Given the description of an element on the screen output the (x, y) to click on. 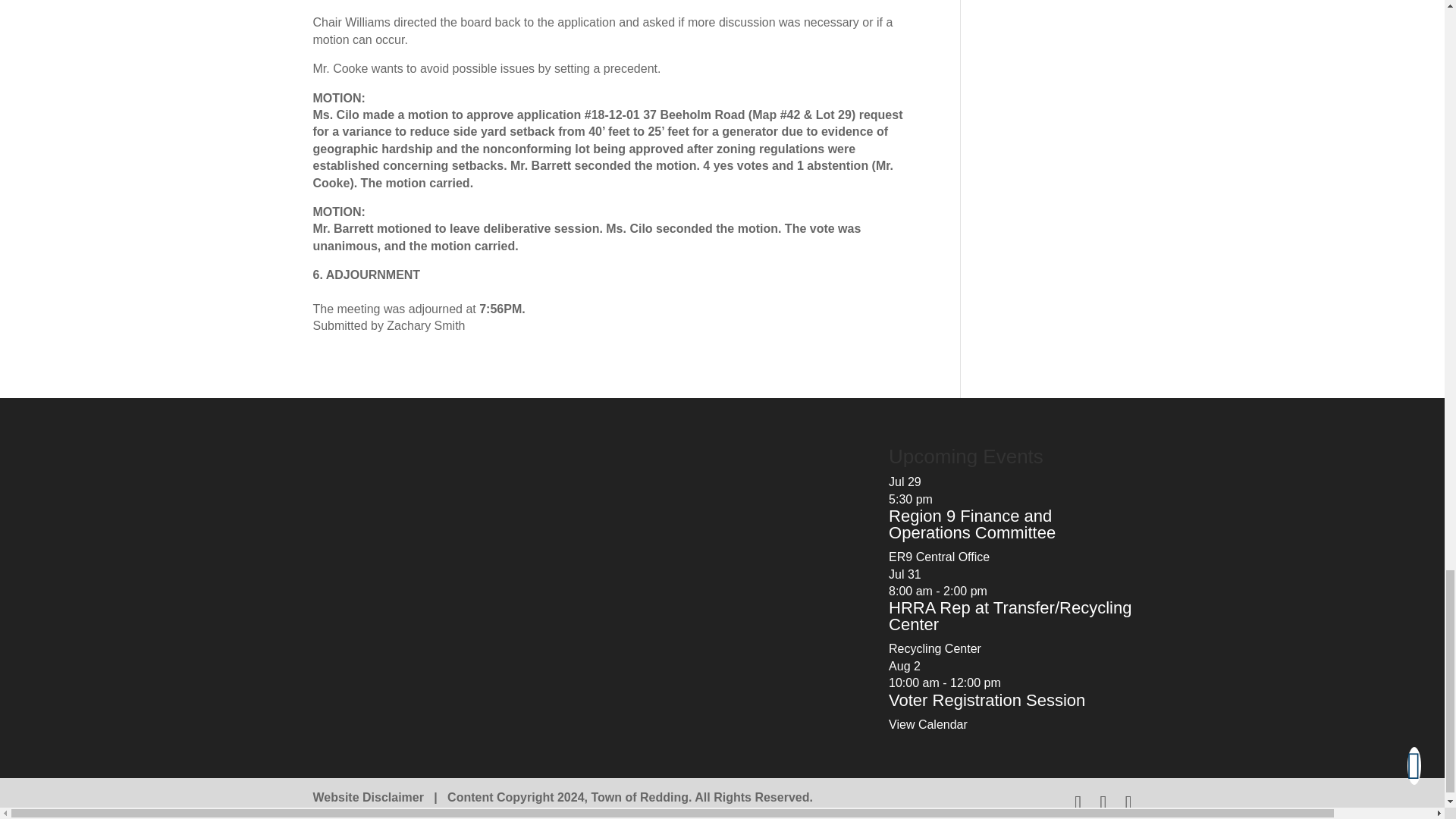
Voter Registration Session (986, 700)
Region 9 Finance and Operations Committee (971, 524)
View more events. (928, 724)
